Given the description of an element on the screen output the (x, y) to click on. 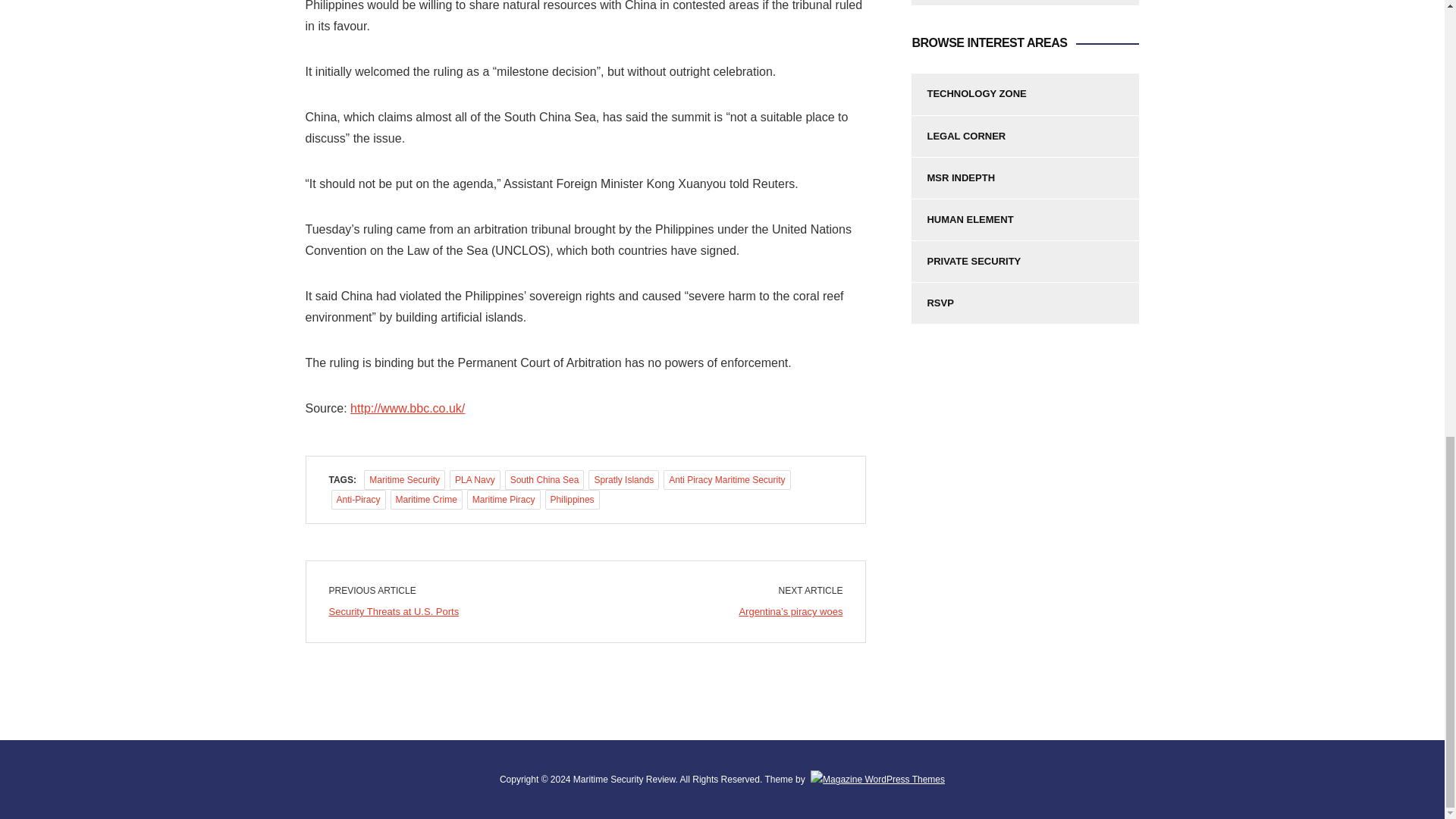
Philippines (571, 499)
PLA Navy (474, 479)
Maritime Piracy (503, 499)
Anti-Piracy (357, 499)
Maritime Crime (426, 499)
Security Threats at U.S. Ports (394, 611)
Free WordPress Themes (876, 778)
Anti Piracy Maritime Security (726, 479)
Spratly Islands (623, 479)
Maritime Security (404, 479)
